Given the description of an element on the screen output the (x, y) to click on. 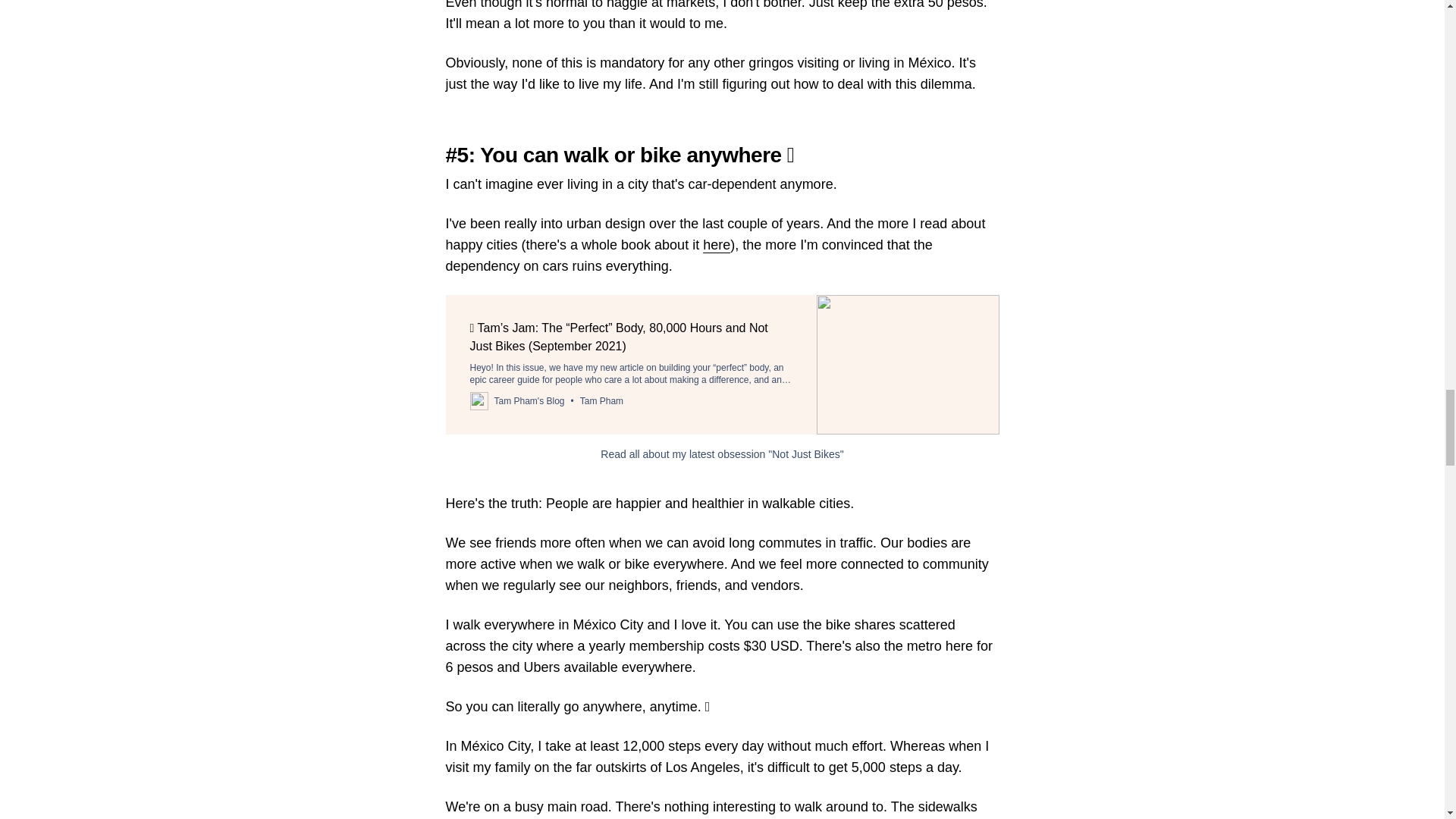
here (716, 244)
